Given the description of an element on the screen output the (x, y) to click on. 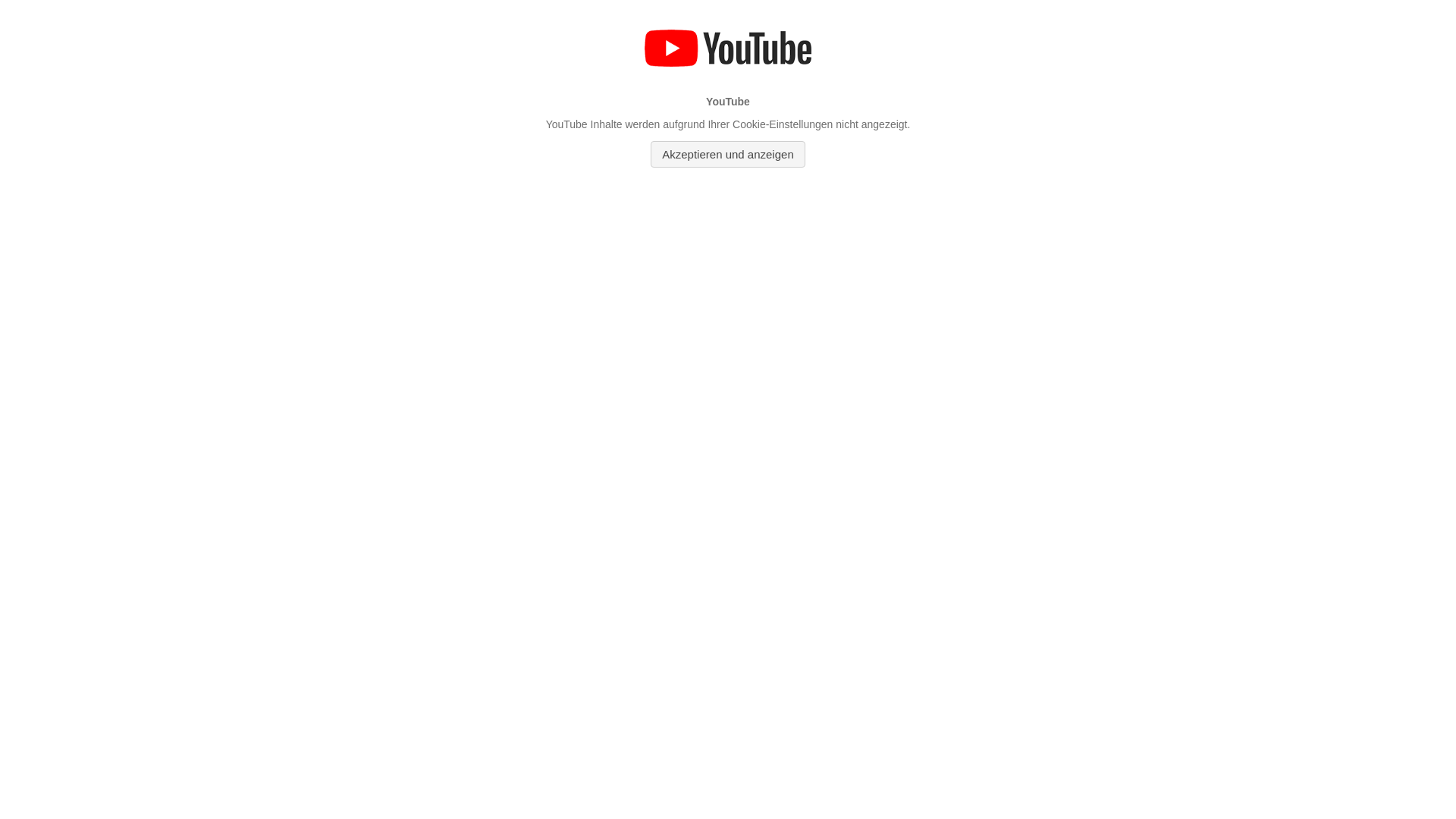
Akzeptieren und anzeigen Element type: text (727, 154)
